Given the description of an element on the screen output the (x, y) to click on. 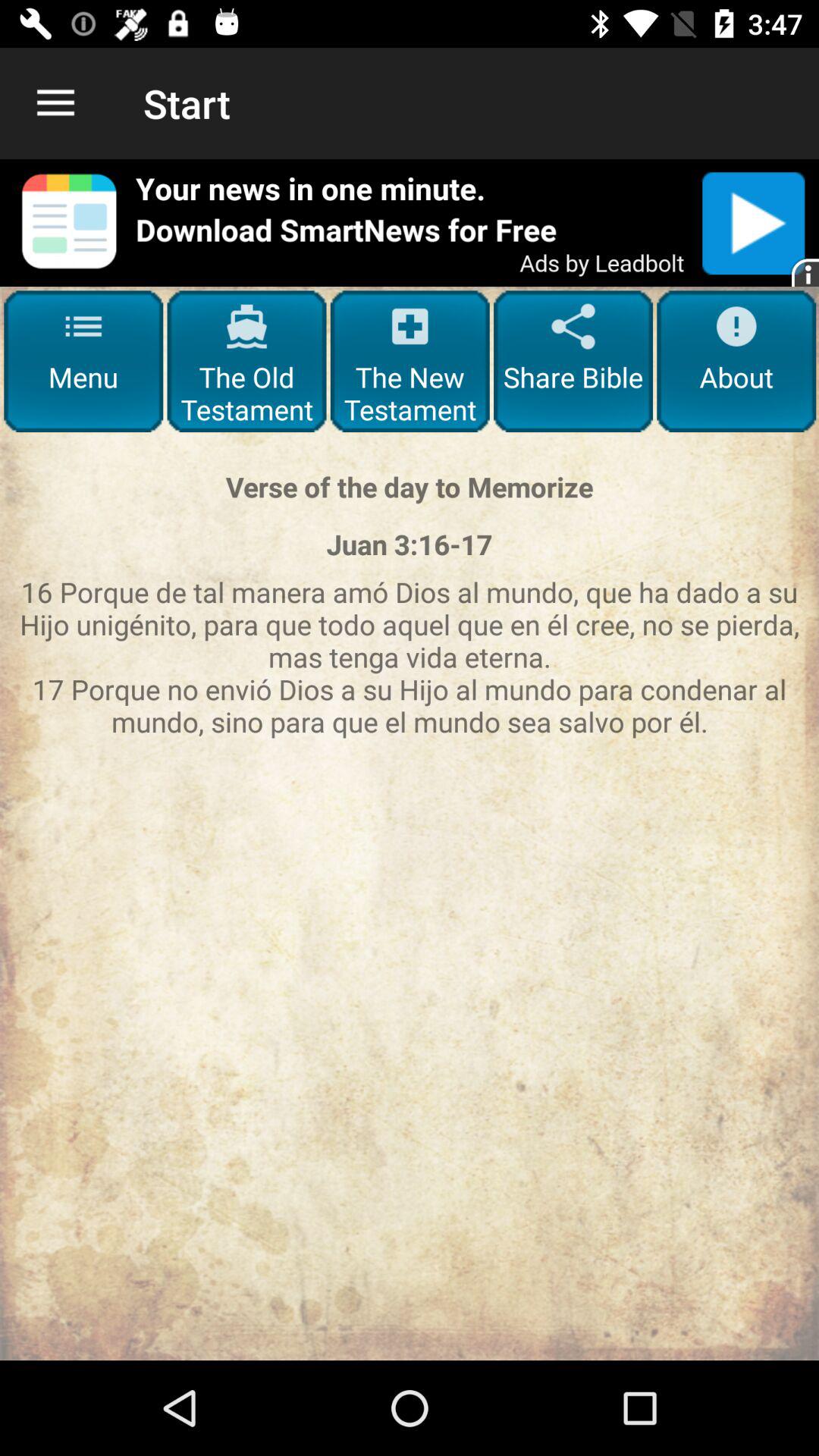
click the menu button (83, 360)
select the icon which is above the share bible (573, 326)
click on about (735, 360)
